Given the description of an element on the screen output the (x, y) to click on. 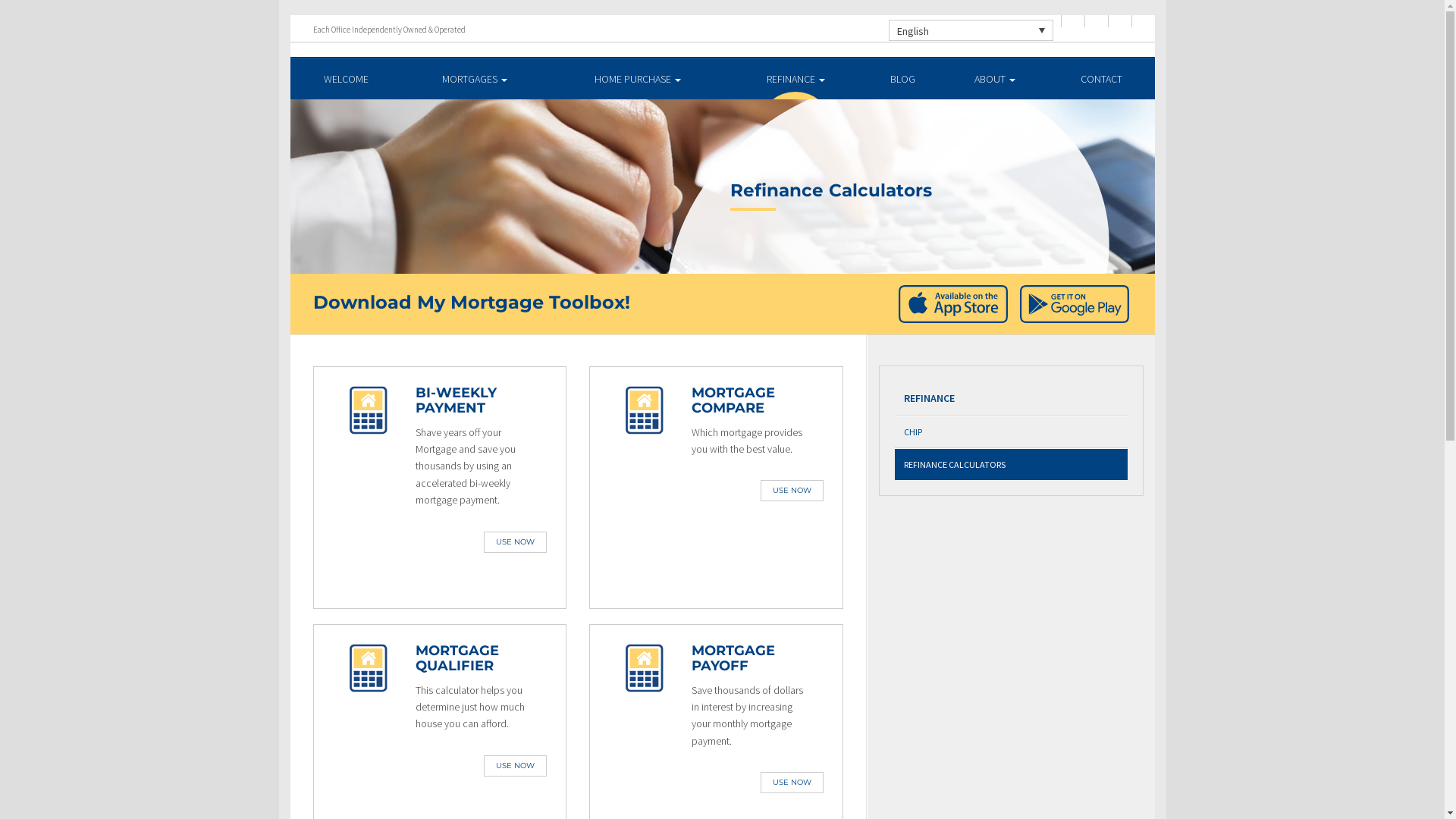
USE NOW Element type: text (790, 490)
REFINANCE Element type: text (795, 78)
BLOG Element type: text (901, 78)
USE NOW Element type: text (514, 765)
USE NOW Element type: text (790, 782)
MORTGAGES Element type: text (474, 78)
HOME PURCHASE Element type: text (637, 78)
REFINANCE Element type: text (1010, 398)
USE NOW Element type: text (514, 541)
REFINANCE CALCULATORS Element type: text (1010, 464)
CONTACT Element type: text (1101, 78)
WELCOME Element type: text (345, 78)
English Element type: text (970, 29)
CHIP Element type: text (1010, 431)
ABOUT Element type: text (994, 78)
